Given the description of an element on the screen output the (x, y) to click on. 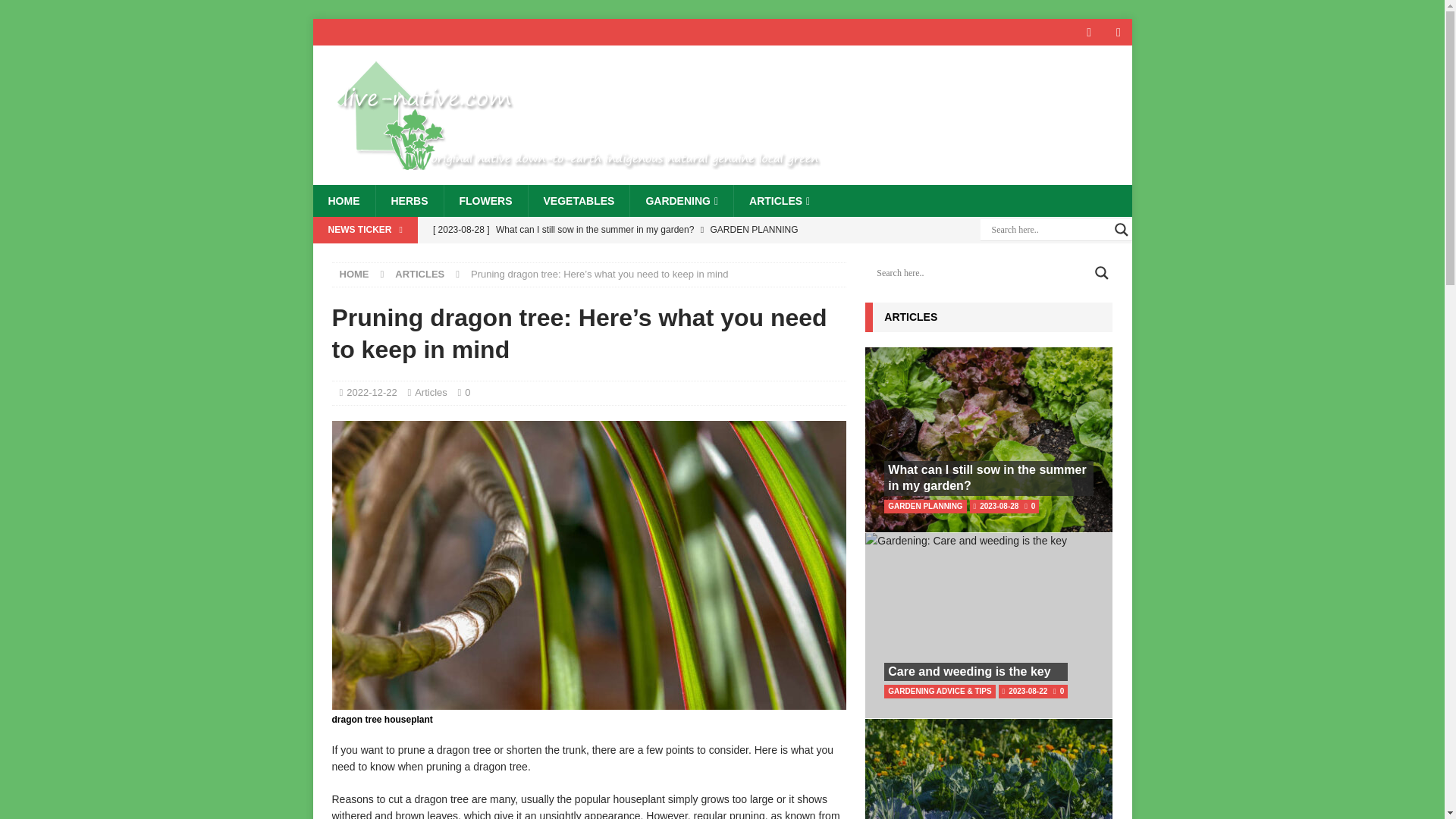
What can I still sow in the summer in my garden? (634, 229)
HOME (354, 274)
GARDENING (680, 201)
FLOWERS (485, 201)
ARTICLES (779, 201)
HERBS (408, 201)
HOME (343, 201)
2022-12-22 (371, 392)
Articles (430, 392)
